Given the description of an element on the screen output the (x, y) to click on. 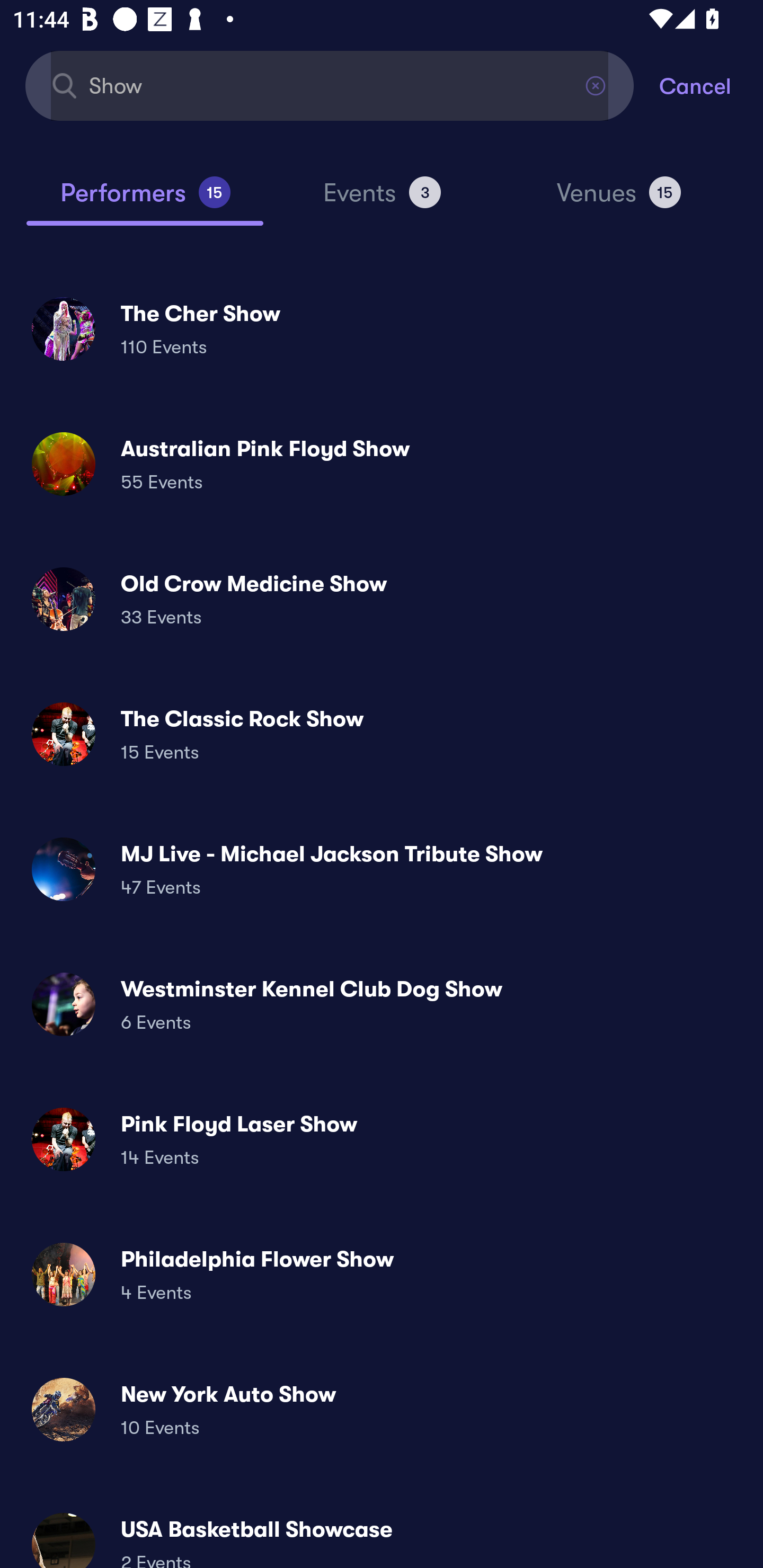
Show Find (329, 85)
Show Find (329, 85)
Cancel (711, 85)
Performers 15 (144, 200)
Events 3 (381, 200)
Venues 15 (618, 200)
The Cher Show 110 Events (381, 328)
Australian Pink Floyd Show 55 Events (381, 464)
Old Crow Medicine Show 33 Events (381, 598)
The Classic Rock Show 15 Events (381, 734)
MJ Live - Michael Jackson Tribute Show 47 Events (381, 869)
Westminster Kennel Club Dog Show 6 Events (381, 1004)
Pink Floyd Laser Show 14 Events (381, 1138)
Philadelphia Flower Show 4 Events (381, 1273)
New York Auto Show 10 Events (381, 1409)
USA Basketball Showcase 2 Events (381, 1532)
